Given the description of an element on the screen output the (x, y) to click on. 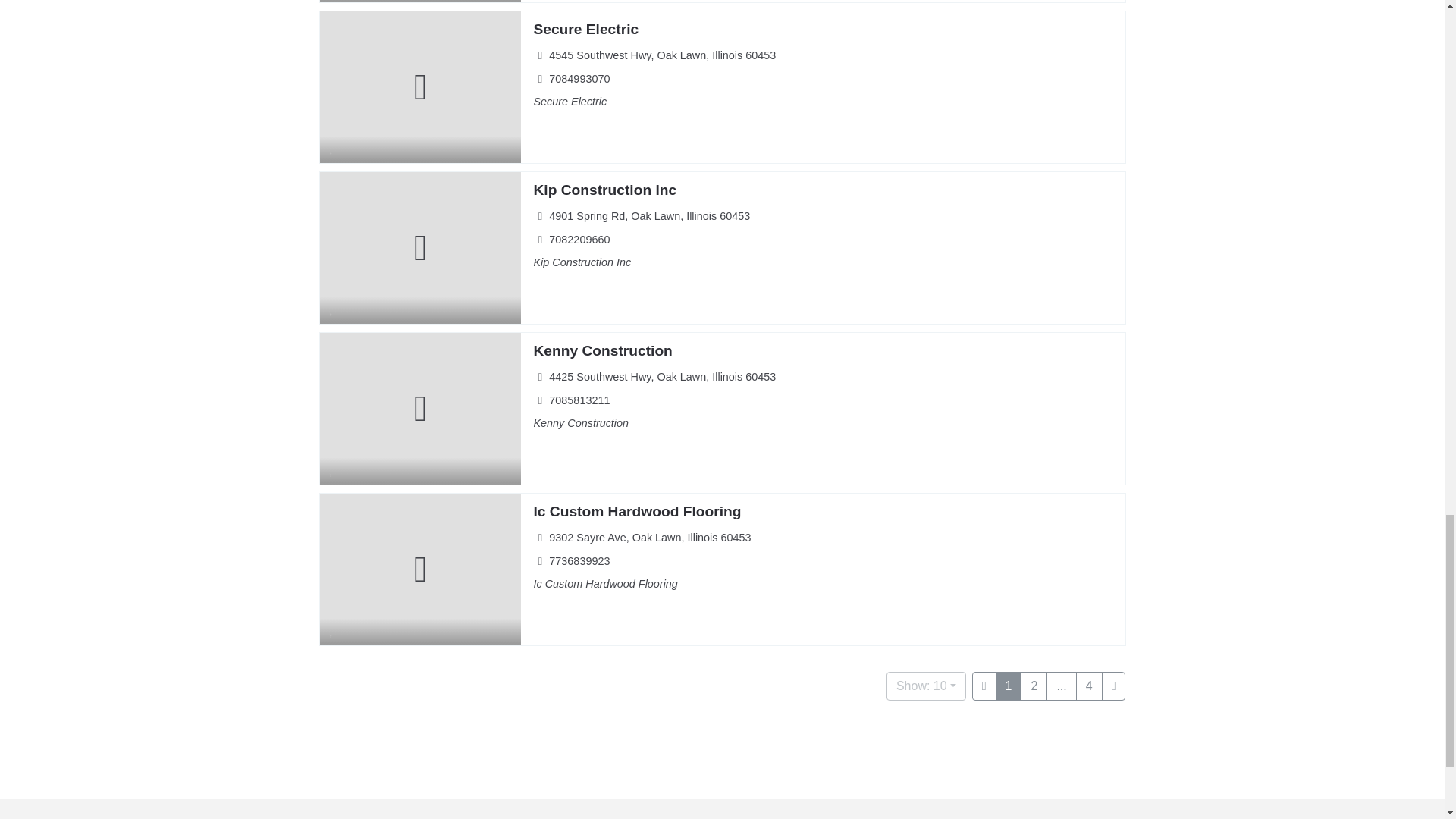
Kip Construction Inc (604, 189)
Secure Electric (585, 28)
Bookmark (331, 1)
